Given the description of an element on the screen output the (x, y) to click on. 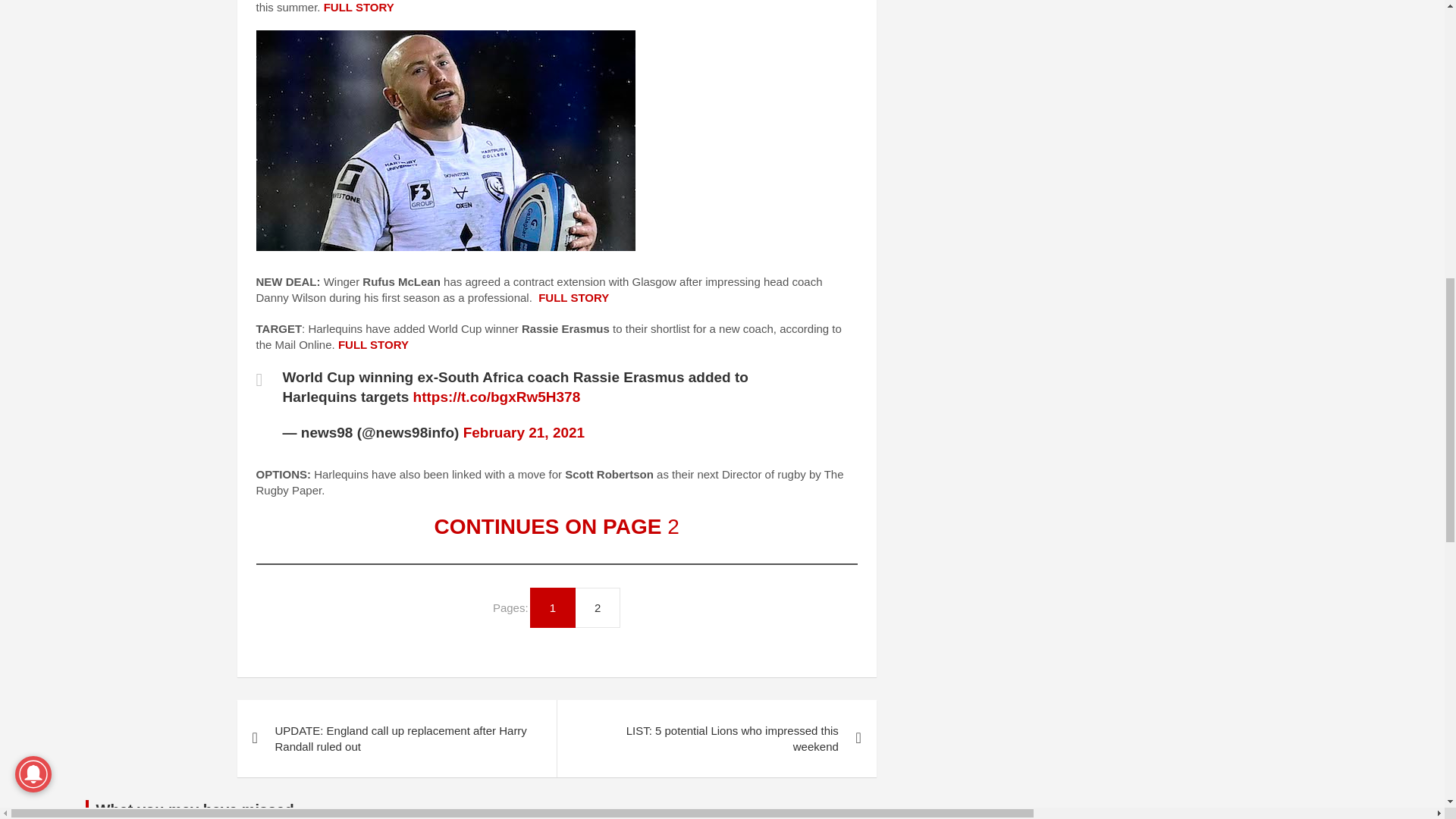
FULL STORY (573, 297)
FULL STORY (373, 344)
FULL STORY (358, 6)
February 21, 2021 (524, 432)
